Given the description of an element on the screen output the (x, y) to click on. 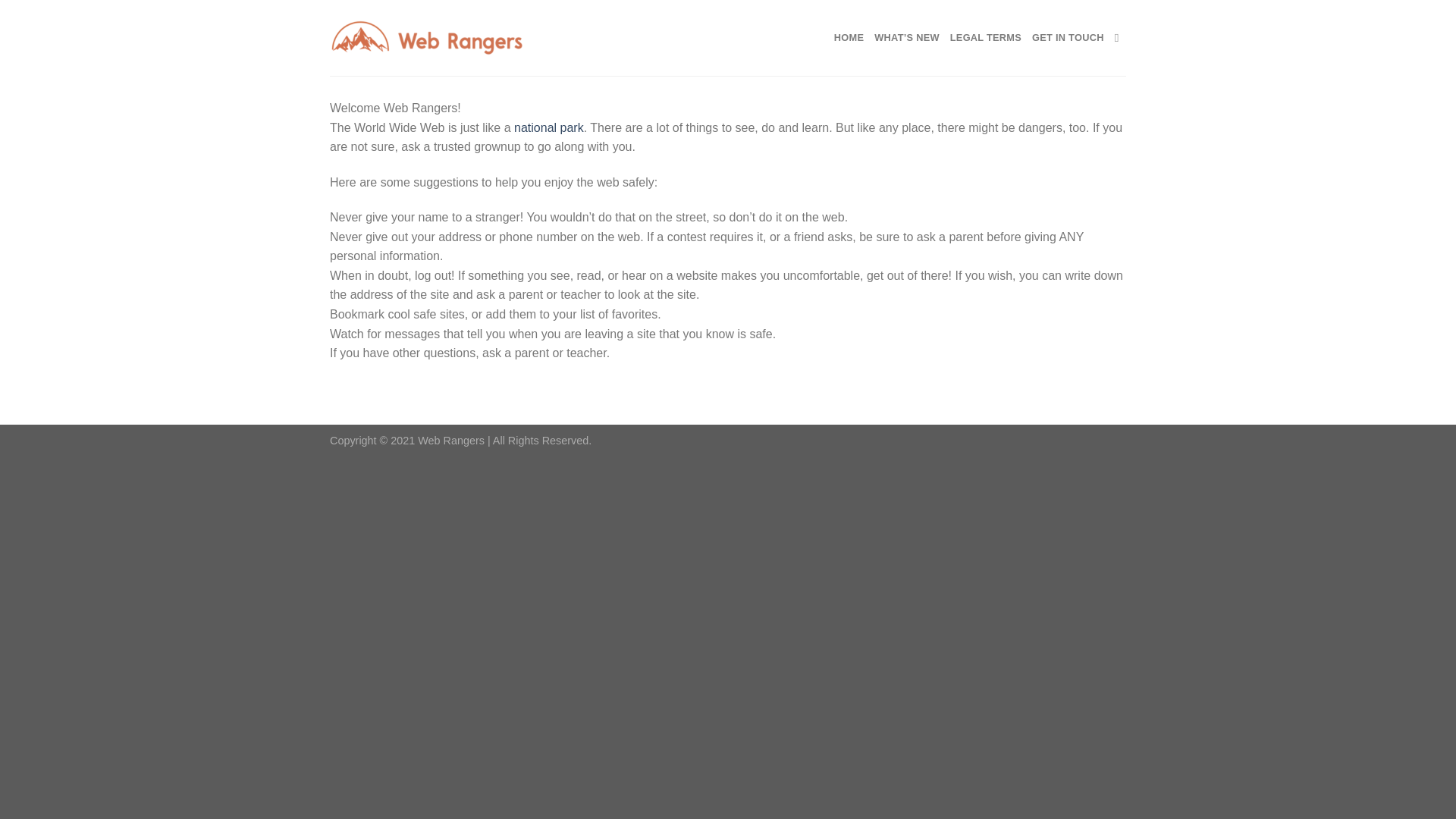
national park (548, 127)
LEGAL TERMS (986, 37)
GET IN TOUCH (1067, 37)
HOME (848, 37)
